Given the description of an element on the screen output the (x, y) to click on. 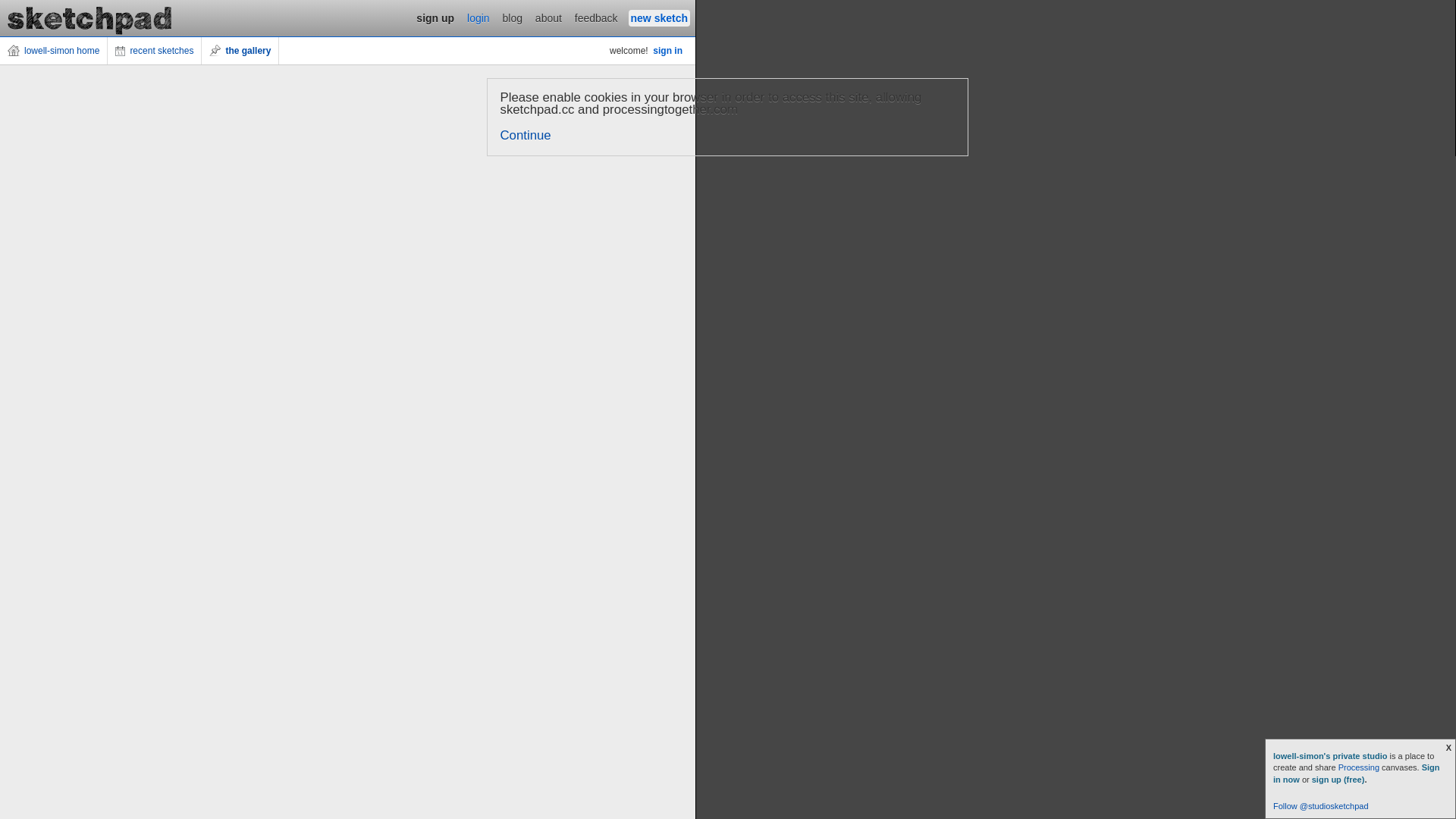
lowell-simon's private studio Element type: text (1331, 755)
Studio Sketchpad is Processing on Etherpad Element type: hover (90, 18)
blog Element type: text (512, 17)
recent sketches Element type: text (154, 50)
sign up (free) Element type: text (1338, 779)
new sketch Element type: text (659, 17)
about Element type: text (548, 17)
sign up Element type: text (435, 17)
feedback Element type: text (596, 17)
Processing Element type: text (1358, 766)
Continue Element type: text (525, 135)
sign in Element type: text (667, 50)
login Element type: text (478, 17)
Follow @studiosketchpad Element type: text (1320, 805)
lowell-simon home Element type: text (53, 50)
the gallery Element type: text (240, 50)
Sign in now Element type: text (1356, 772)
